Given the description of an element on the screen output the (x, y) to click on. 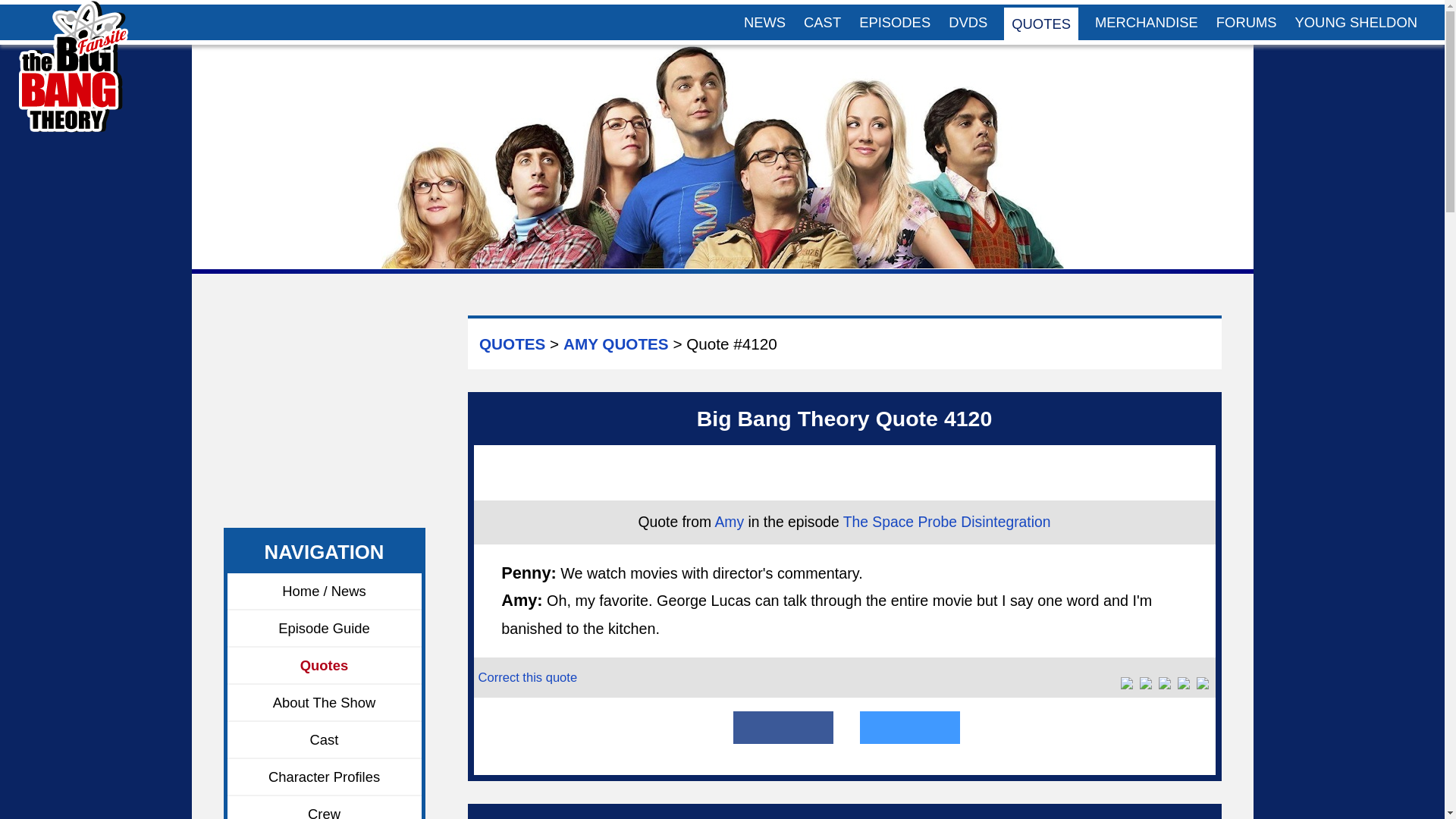
About The Show (324, 702)
YOUNG SHELDON (1355, 22)
Character Profiles (324, 777)
QUOTES (1041, 23)
Crew (324, 807)
Episode Guide (324, 628)
DVDS (967, 22)
EPISODES (894, 22)
NEWS (764, 22)
MERCHANDISE (1146, 22)
CAST (822, 22)
FORUMS (1246, 22)
Cast (324, 740)
Quotes (324, 665)
